Given the description of an element on the screen output the (x, y) to click on. 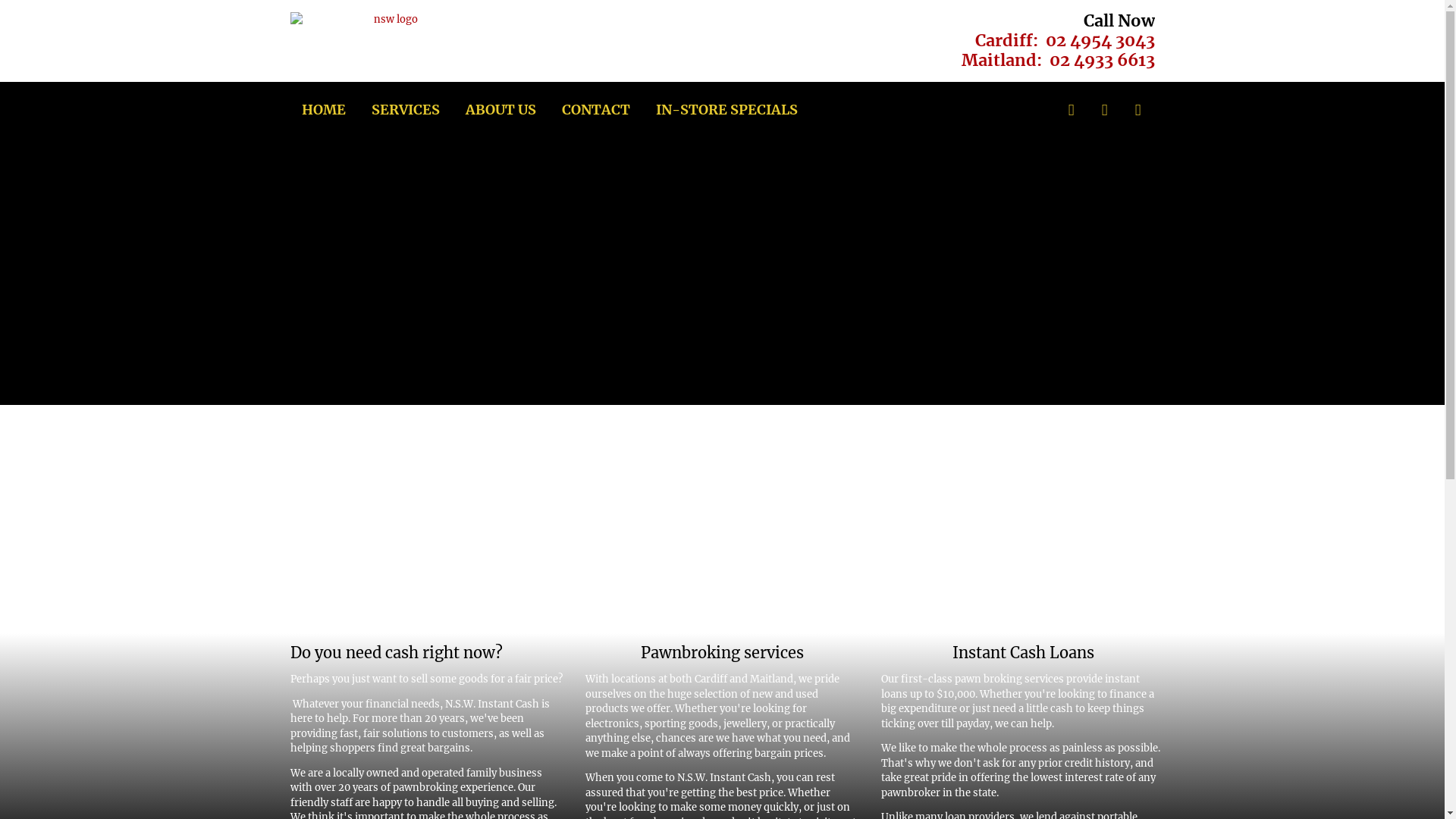
02 4933 6613 Element type: text (1101, 60)
ABOUT US Element type: text (500, 109)
02 4954 3043 Element type: text (1099, 40)
CONTACT Element type: text (595, 109)
SERVICES Element type: text (405, 109)
IN-STORE SPECIALS Element type: text (726, 109)
nsw logo Element type: hover (389, 19)
HOME Element type: text (323, 109)
